Given the description of an element on the screen output the (x, y) to click on. 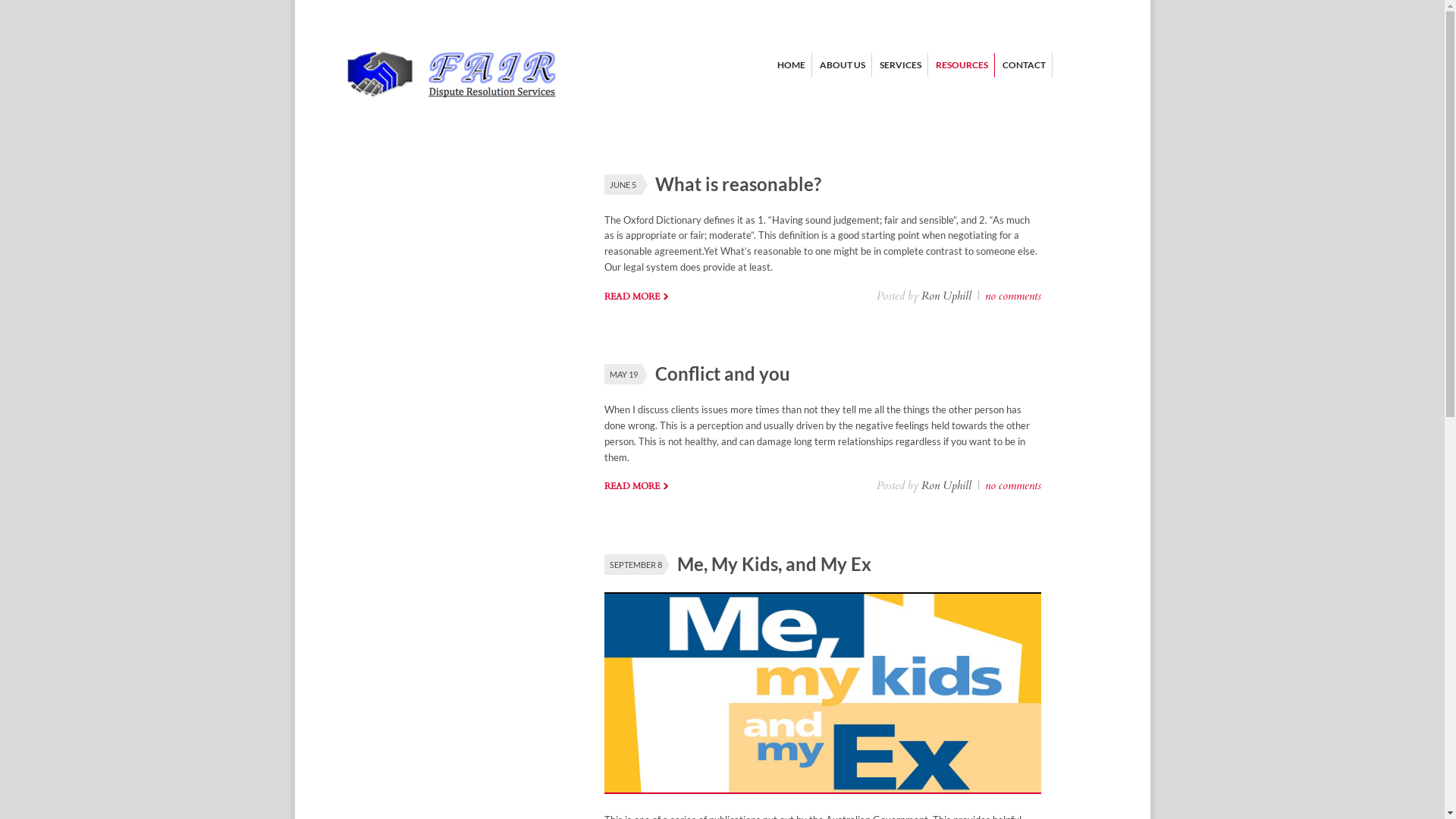
What is reasonable? Element type: text (738, 183)
Contact us now: Ron 0418113094 or Melissa 0416006933 Element type: hover (451, 104)
no comments Element type: text (1012, 295)
ABOUT US Element type: text (841, 65)
RESOURCES Element type: text (961, 65)
CONTACT Element type: text (1023, 65)
Me, My Kids, and My Ex Element type: text (773, 563)
SERVICES Element type: text (900, 65)
READ MORE Element type: text (635, 296)
HOME Element type: text (790, 65)
READ MORE Element type: text (635, 486)
Conflict and you Element type: text (722, 373)
no comments Element type: text (1012, 484)
